Given the description of an element on the screen output the (x, y) to click on. 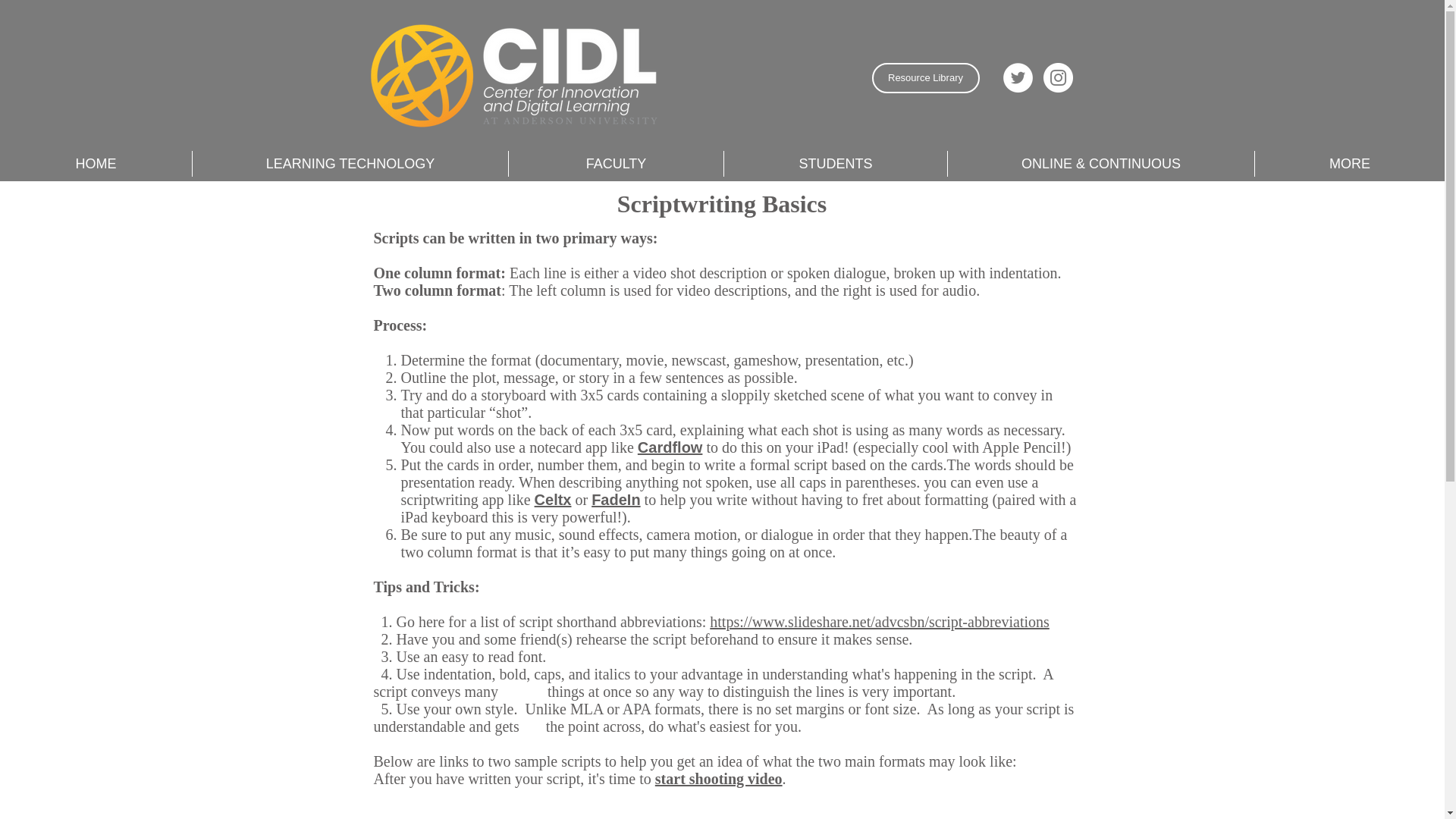
Resource Library (925, 78)
FadeIn (615, 499)
Cardflow (670, 446)
HOME (96, 163)
start shooting video (719, 778)
Celtx (553, 499)
